Given the description of an element on the screen output the (x, y) to click on. 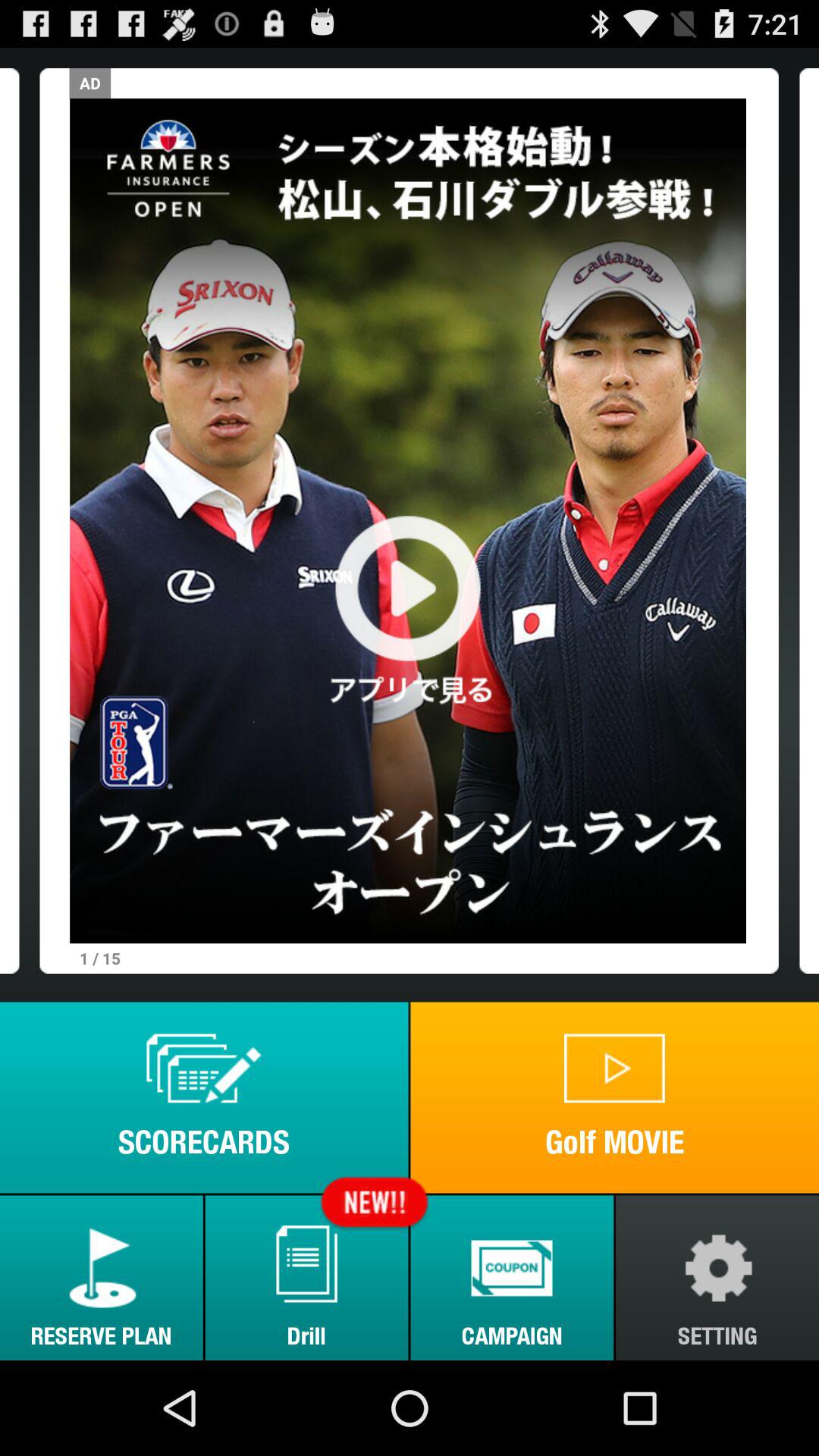
launch item next to the drill item (101, 1277)
